Given the description of an element on the screen output the (x, y) to click on. 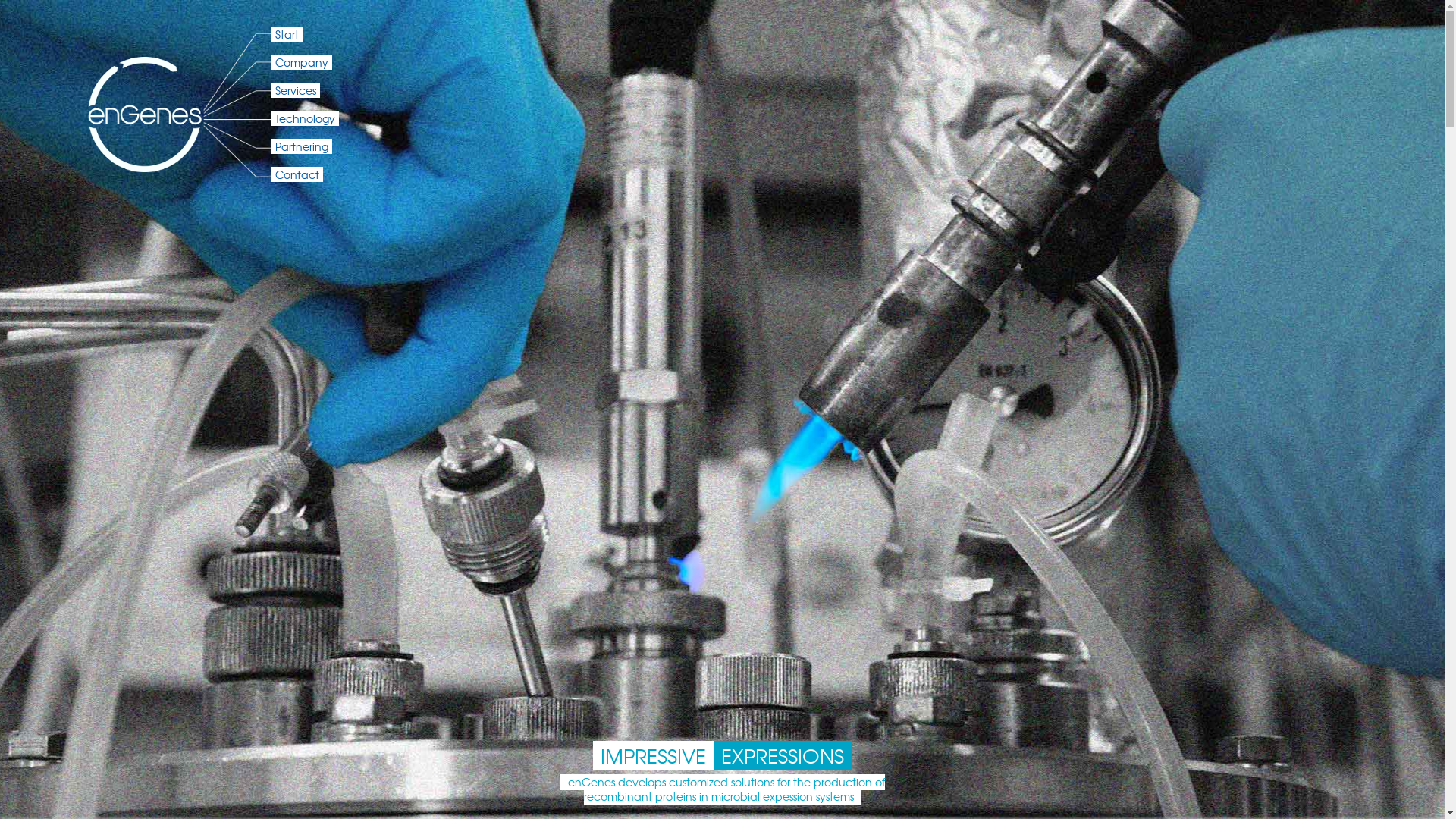
Services Element type: text (295, 89)
Company Element type: text (301, 61)
Technology Element type: text (304, 117)
Start Element type: text (286, 33)
Partnering Element type: text (301, 145)
Contact Element type: text (297, 174)
